Given the description of an element on the screen output the (x, y) to click on. 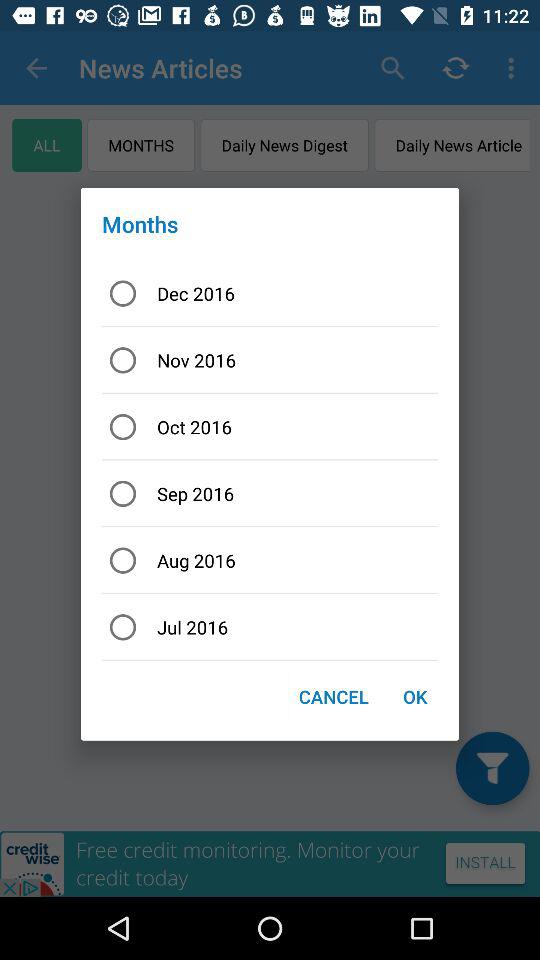
launch the icon above the sep 2016 item (269, 426)
